Given the description of an element on the screen output the (x, y) to click on. 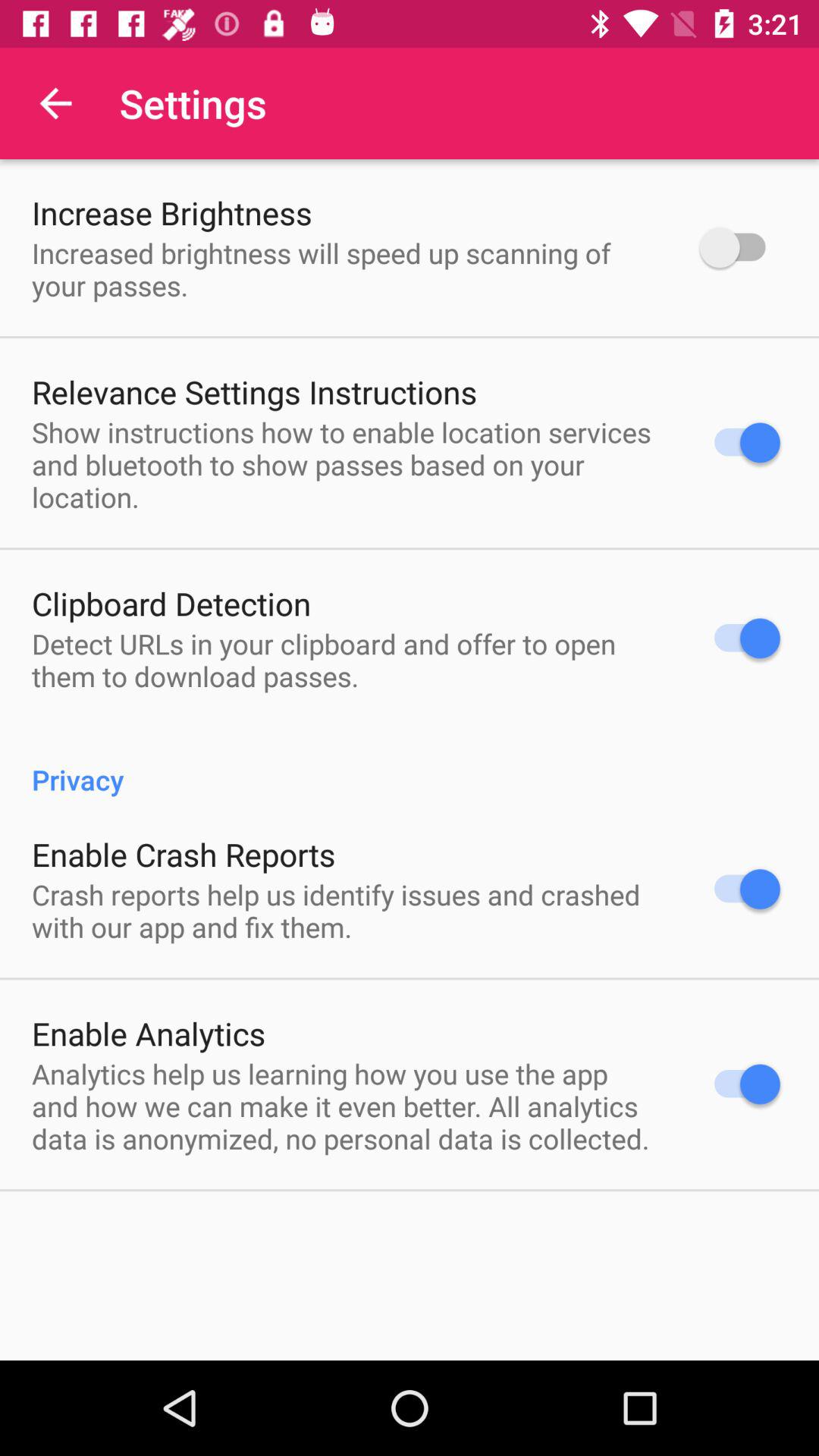
turn off icon below detect urls in (409, 763)
